Given the description of an element on the screen output the (x, y) to click on. 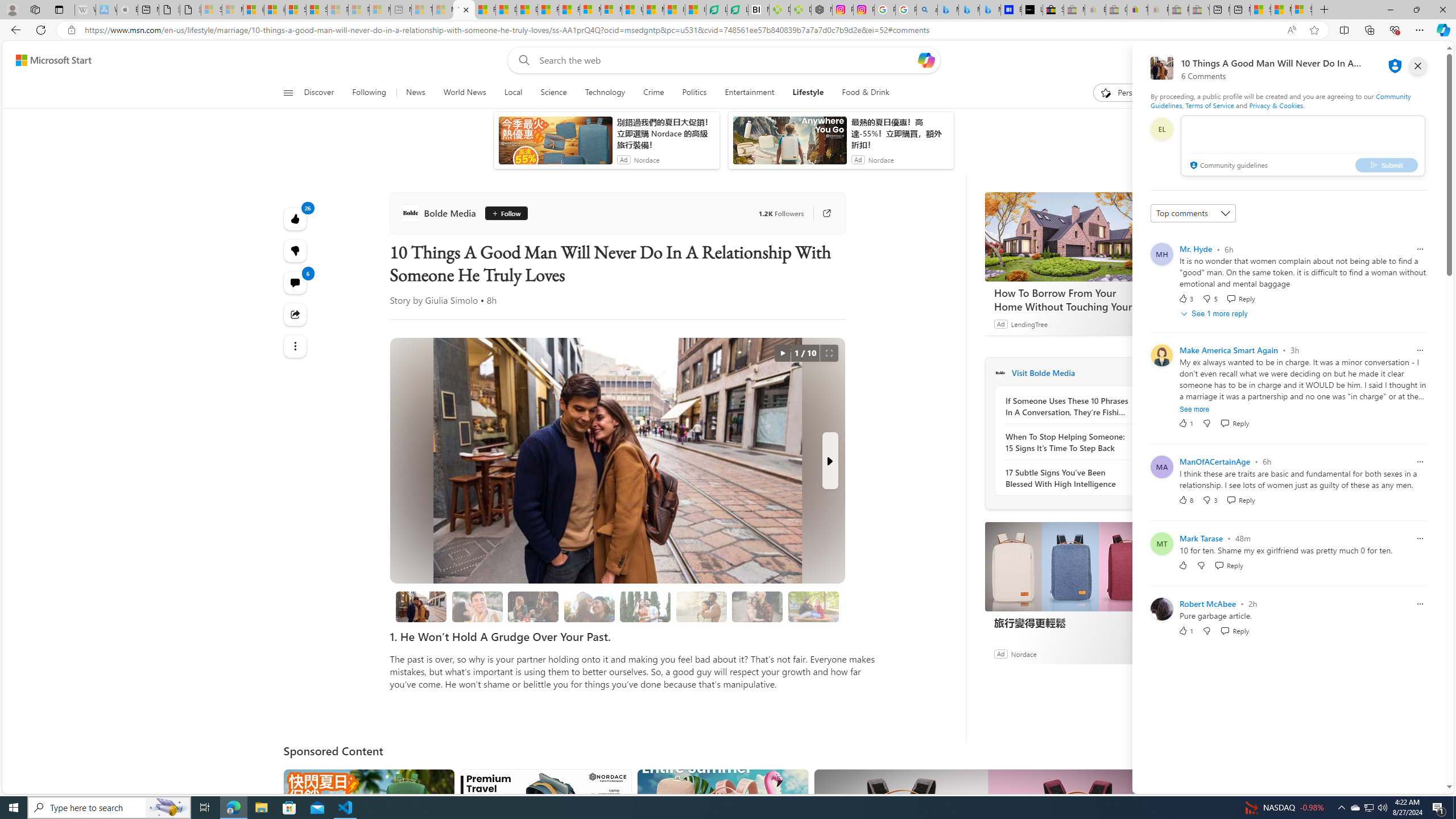
Submit (1386, 164)
Wikipedia - Sleeping (84, 9)
Class: button-glyph (287, 92)
World News (464, 92)
Open Copilot (925, 59)
Marine life - MSN - Sleeping (443, 9)
Press Room - eBay Inc. - Sleeping (1178, 9)
To get missing image descriptions, open the context menu. (1105, 92)
Community guidelines (1228, 165)
Next Slide (829, 460)
Buy iPad - Apple - Sleeping (127, 9)
